Given the description of an element on the screen output the (x, y) to click on. 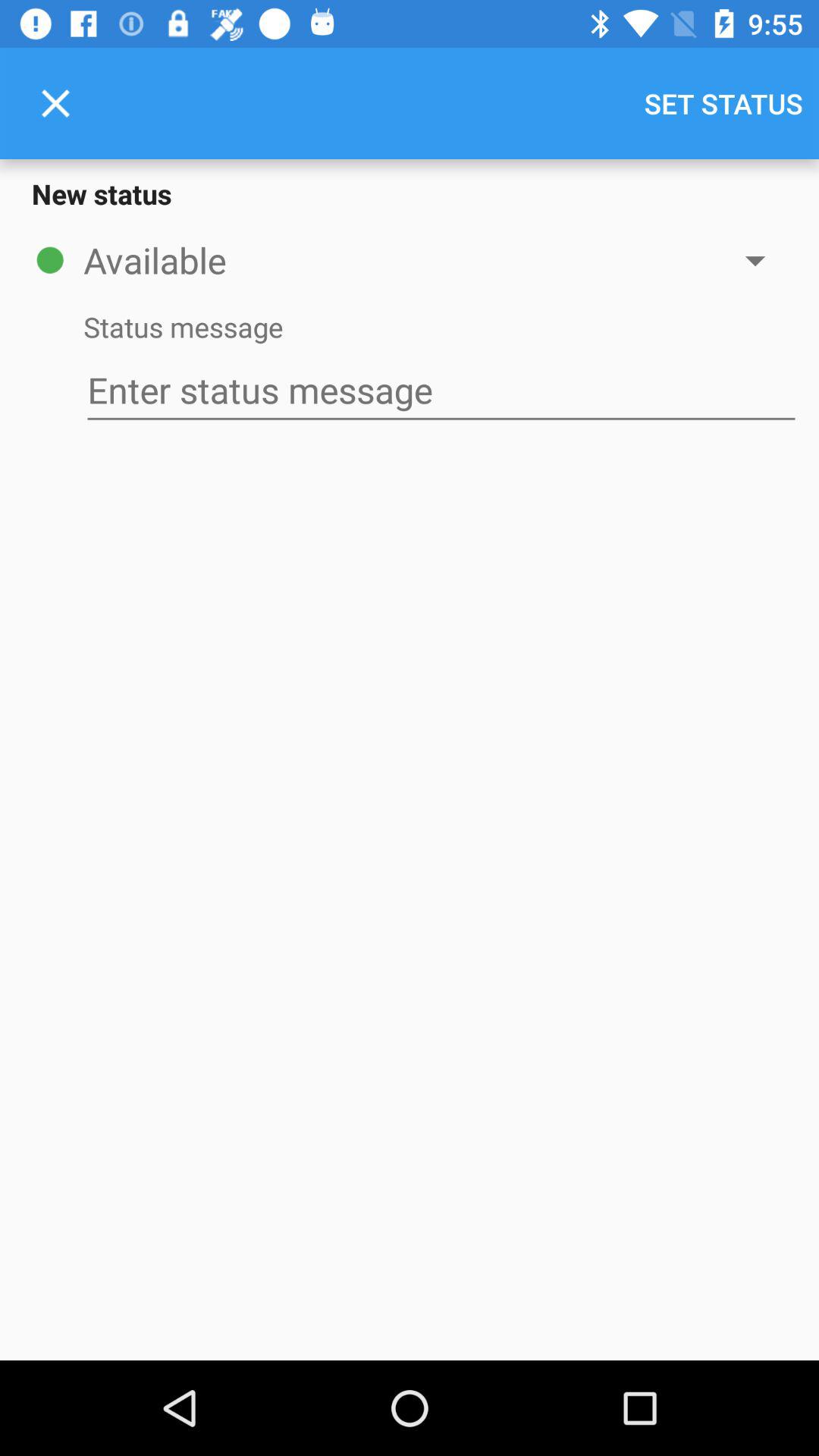
tap set status icon (723, 103)
